Given the description of an element on the screen output the (x, y) to click on. 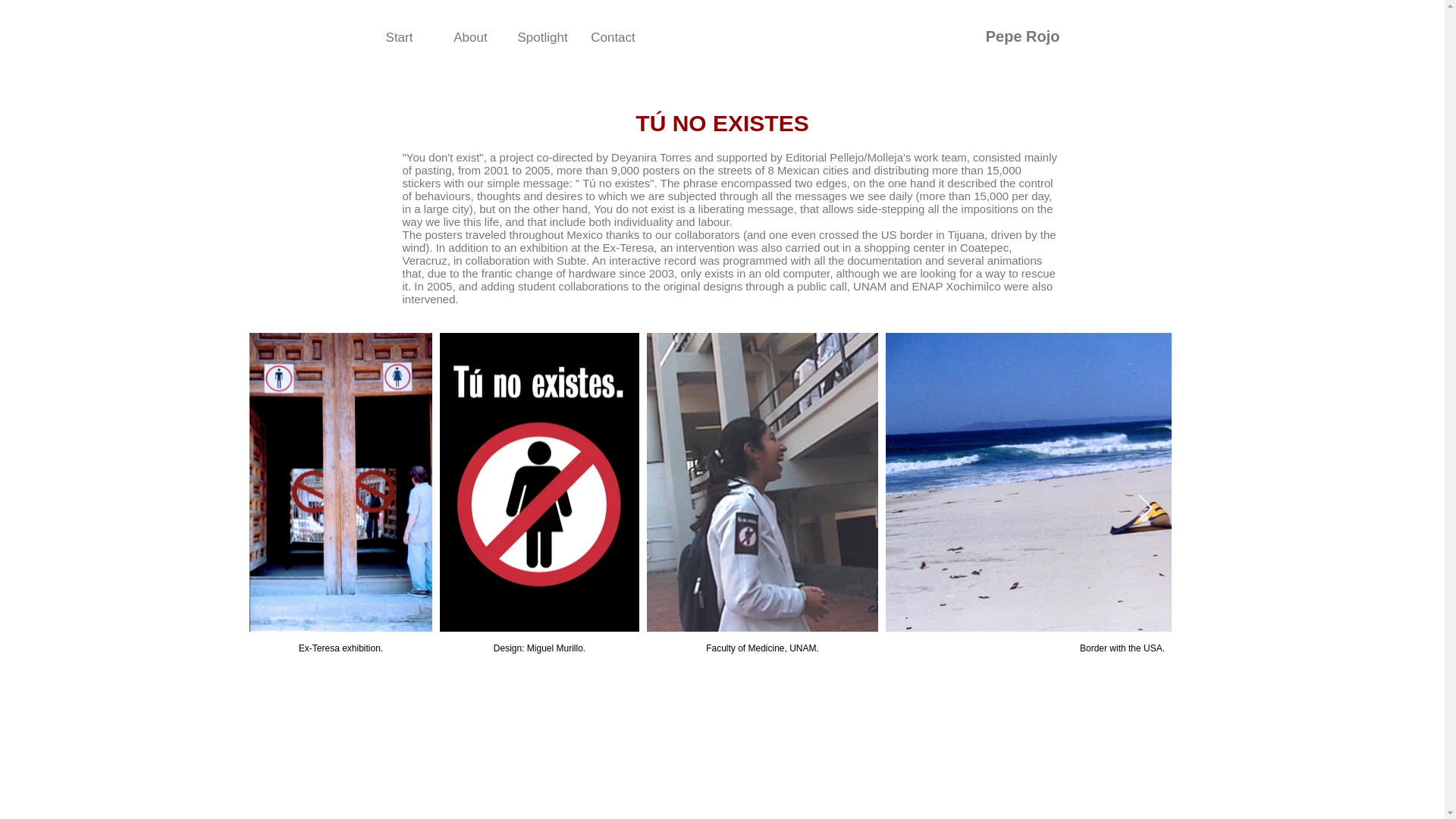
Spotlight (542, 37)
Contact (613, 37)
About (470, 37)
Start (399, 37)
Pepe Rojo (1022, 36)
